Given the description of an element on the screen output the (x, y) to click on. 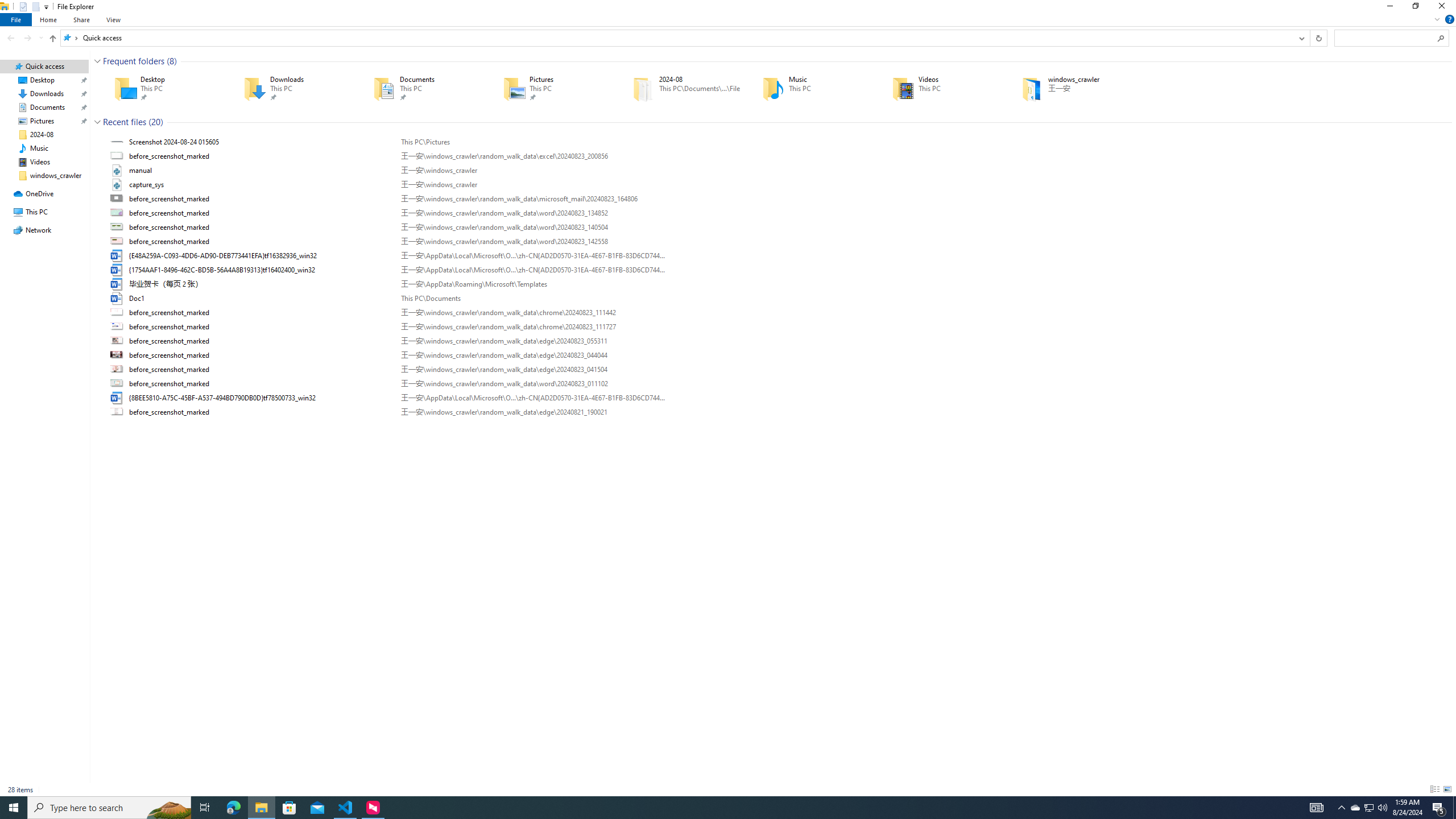
Search (1441, 37)
Pinned (1088, 96)
Up band toolbar (52, 39)
Downloads (292, 88)
Screenshot 2024-08-24 015605 (777, 142)
Videos (940, 88)
Desktop (162, 88)
